Given the description of an element on the screen output the (x, y) to click on. 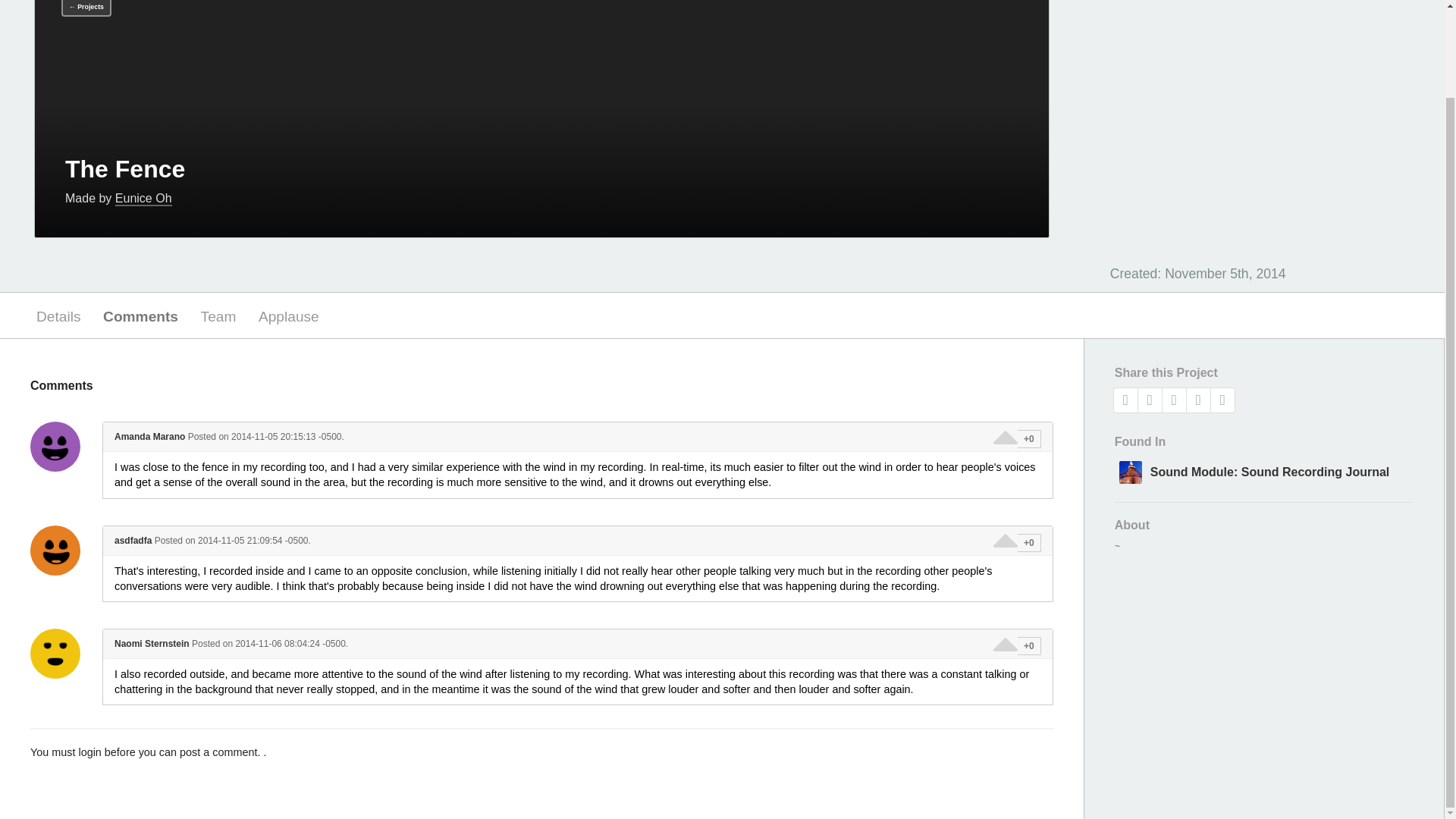
Amanda Marano (55, 446)
Share on Facebook (1125, 400)
asdfadfa (55, 550)
Applause (288, 315)
Share by Email (1221, 400)
Share on Twitter (1149, 400)
Naomi Sternstein (55, 653)
Comments (141, 315)
Sound Module: Sound Recording Journal (1263, 470)
Team (218, 315)
